Given the description of an element on the screen output the (x, y) to click on. 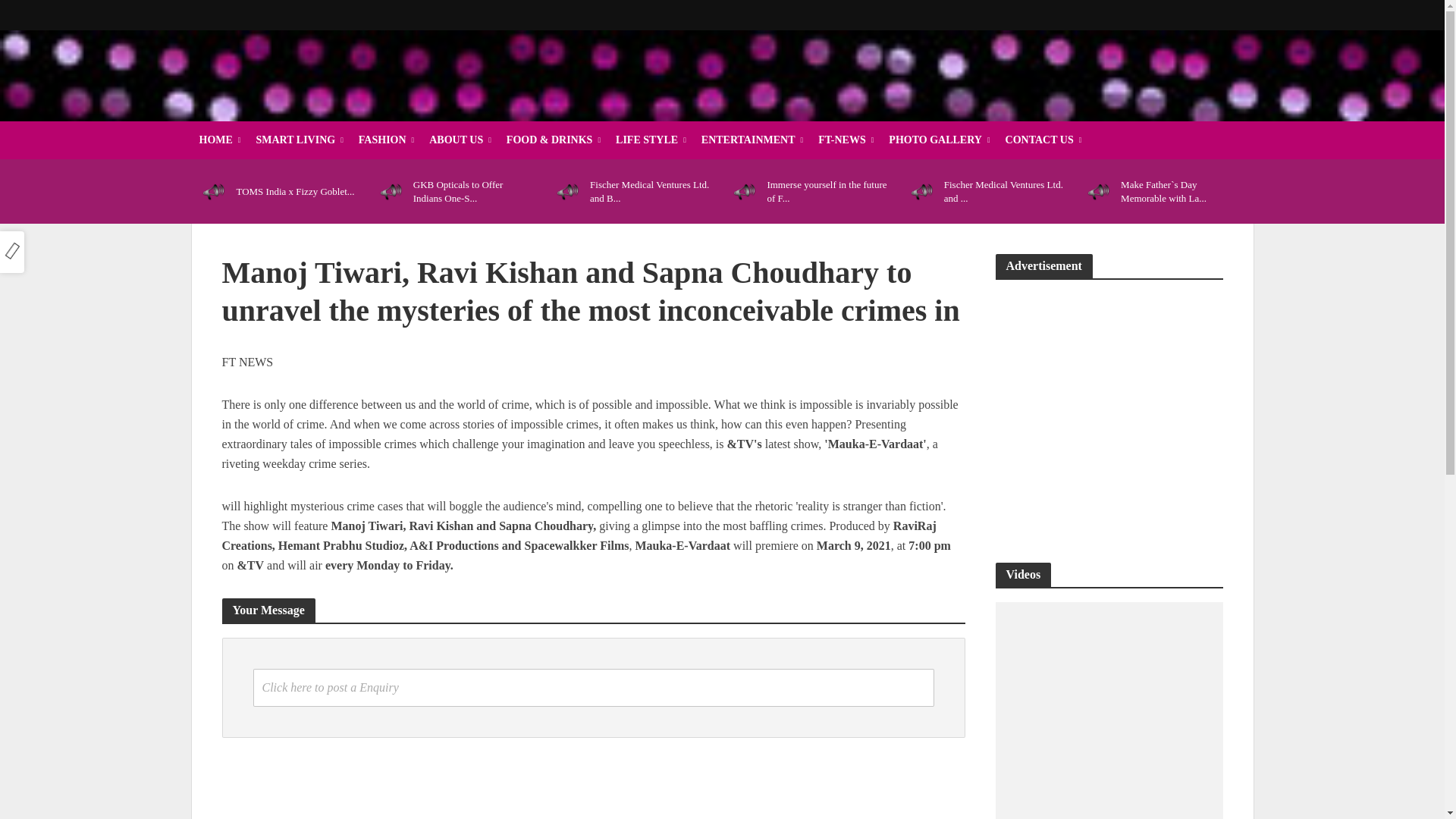
ABOUT US (460, 139)
TOMS India x Fizzy Goblet... (295, 192)
Fischer Medical Ventures Ltd. and ... (1003, 190)
Fischer Medical Ventures Ltd. and B... (649, 190)
SMART LIVING (299, 139)
LIFE STYLE (651, 139)
HOME (218, 139)
Immerse yourself in the future of F... (826, 190)
ENTERTAINMENT (752, 139)
PHOTO GALLERY (938, 139)
FASHION (386, 139)
GKB Opticals to Offer Indians One-S... (473, 190)
CONTACT US (1043, 139)
FT-NEWS (845, 139)
